Given the description of an element on the screen output the (x, y) to click on. 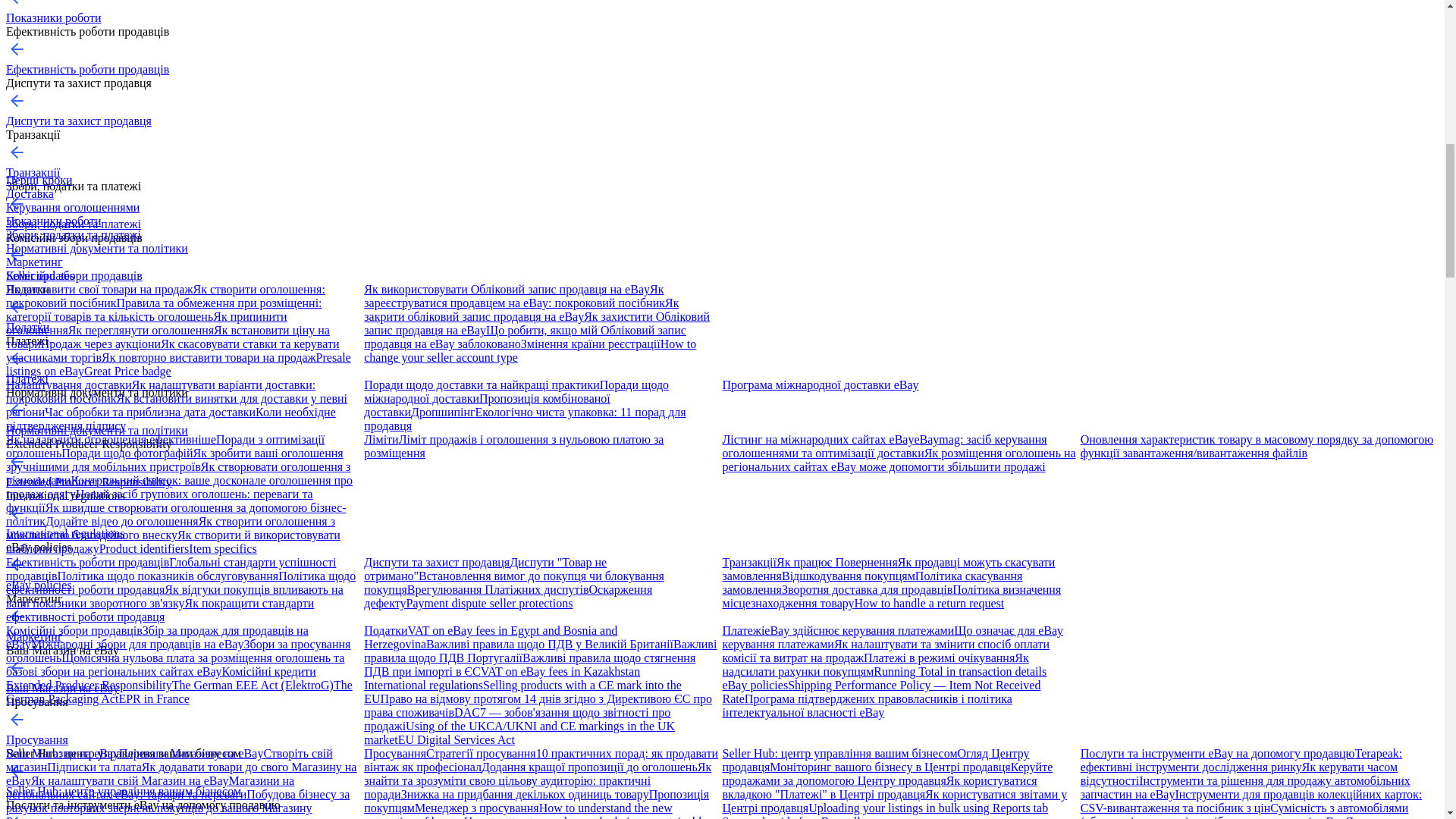
International regulations (65, 533)
eBay policies (38, 584)
Extended Producer Responsibility (88, 481)
